Given the description of an element on the screen output the (x, y) to click on. 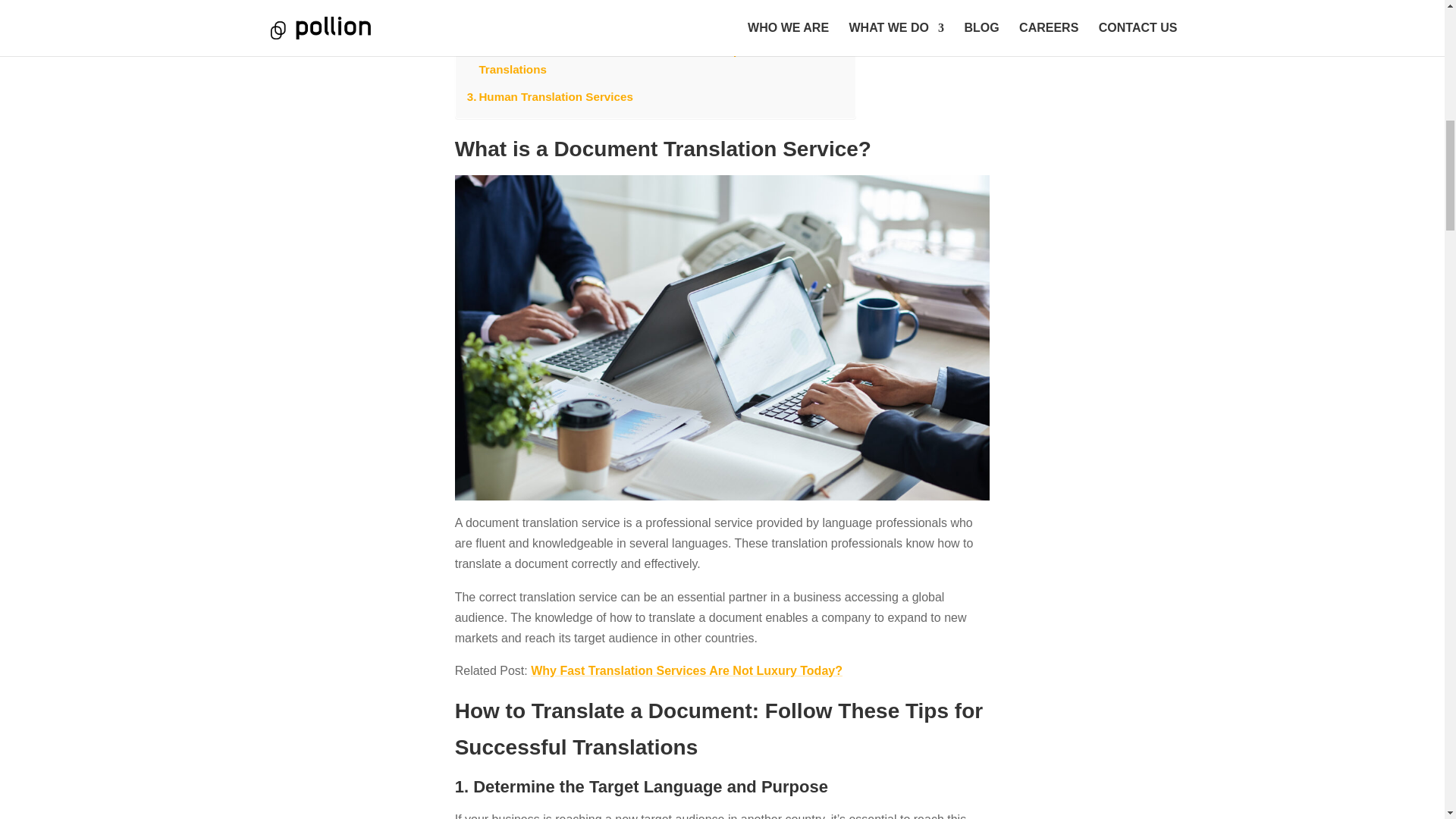
What is a Document Translation Service?  (585, 22)
Human Translation Services (548, 96)
Human Translation Services (548, 96)
Why Fast Translation Services Are Not Luxury Today? (687, 670)
